Given the description of an element on the screen output the (x, y) to click on. 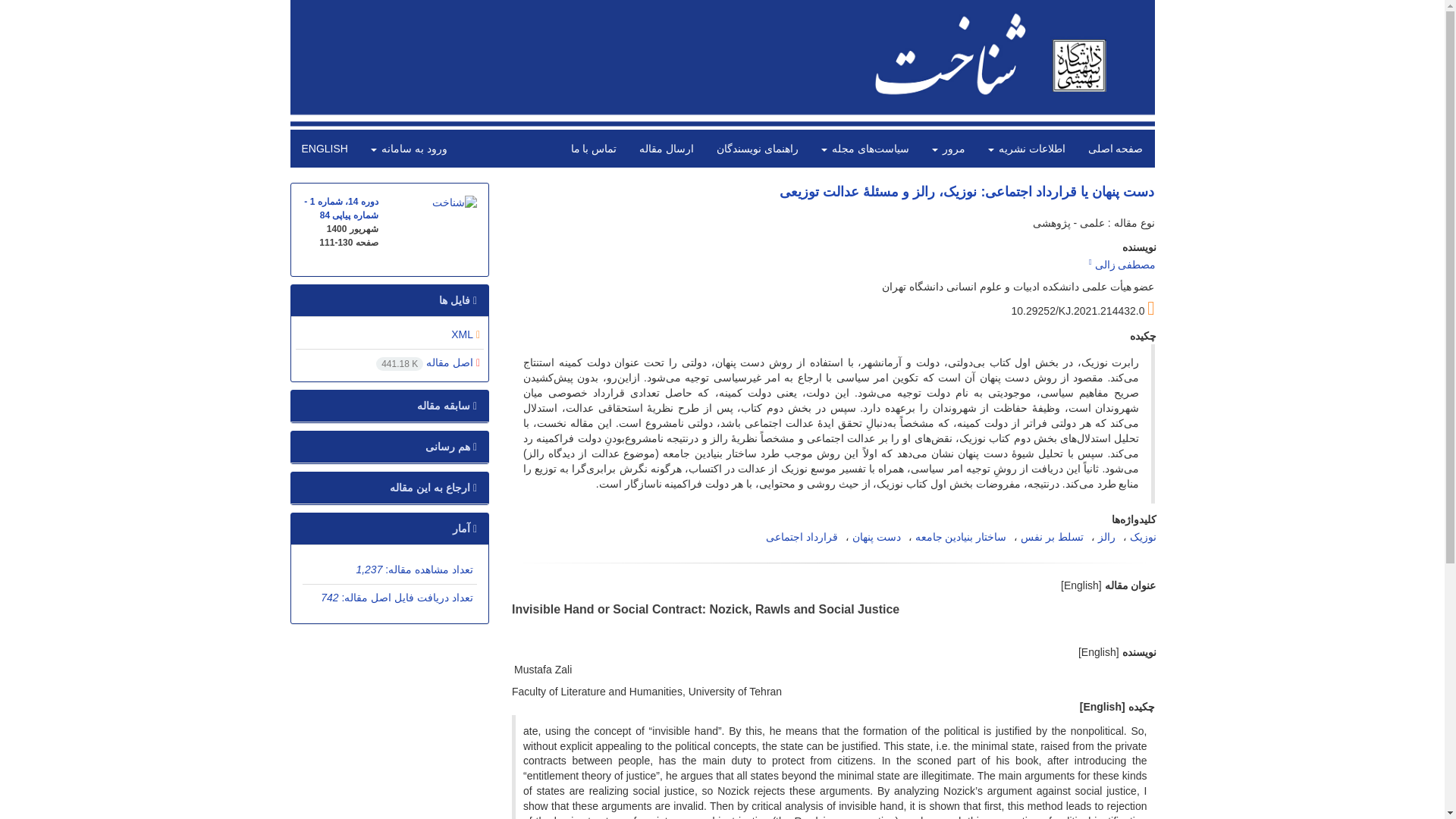
ENGLISH (323, 148)
